Given the description of an element on the screen output the (x, y) to click on. 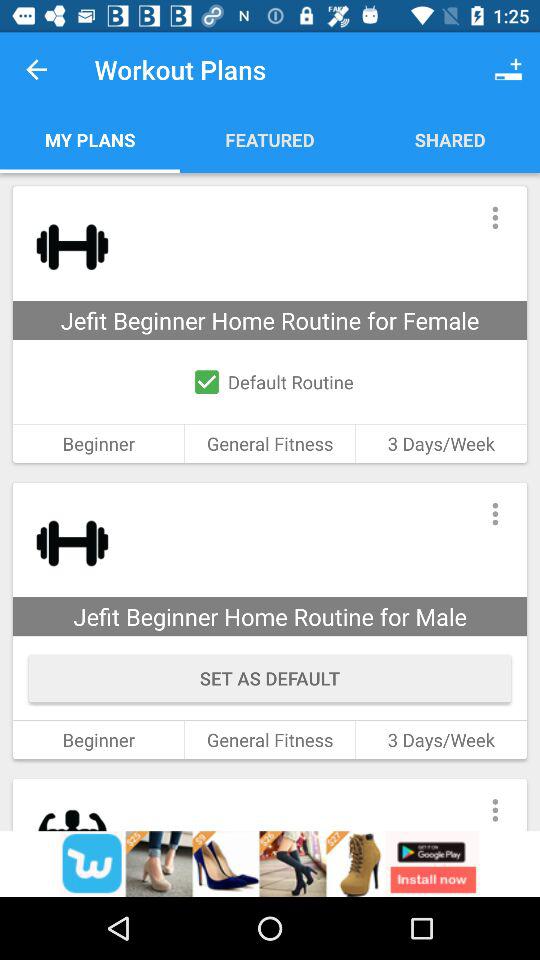
open menu (494, 804)
